Given the description of an element on the screen output the (x, y) to click on. 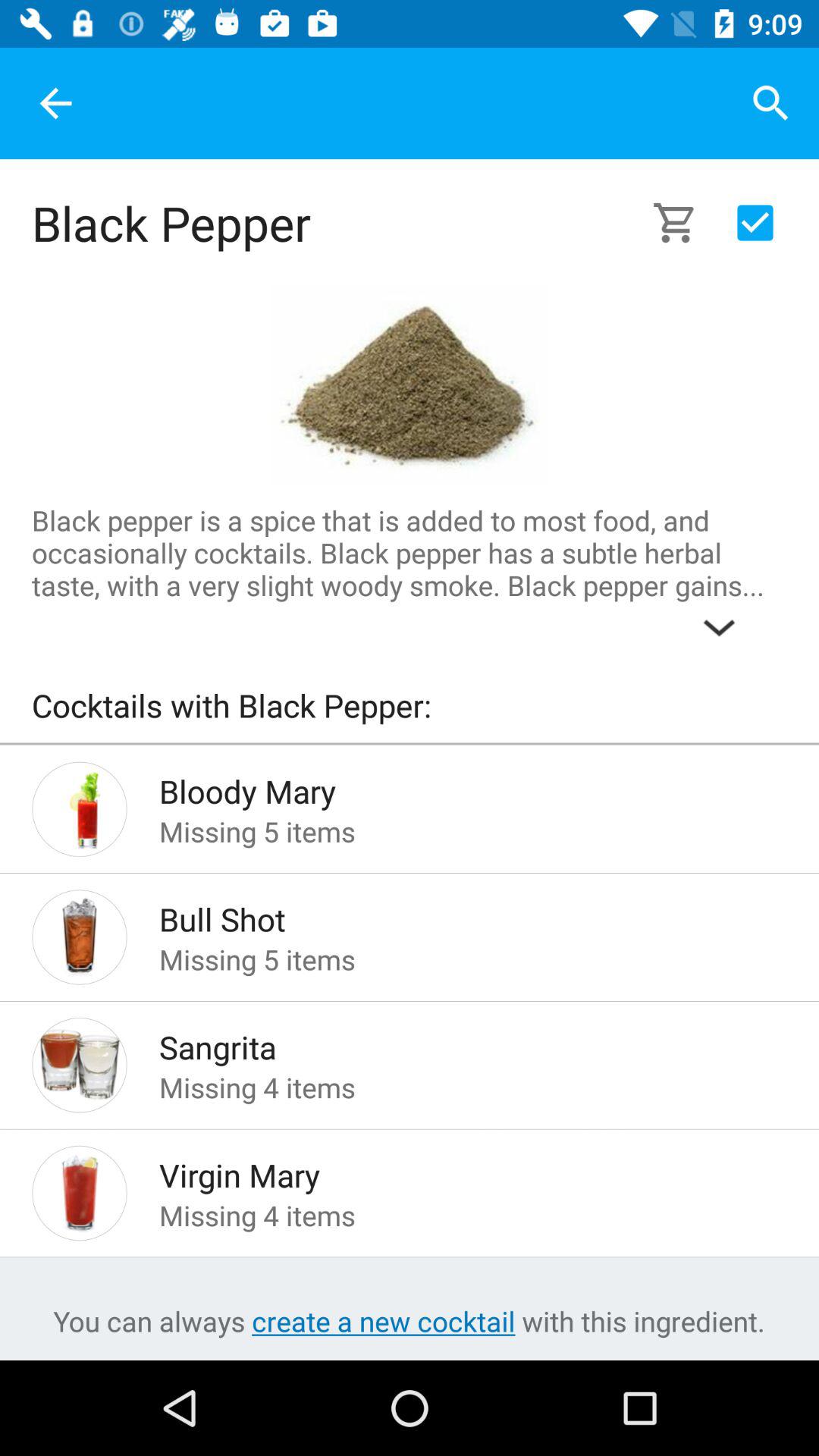
launch the icon above the missing 5 items icon (449, 786)
